Given the description of an element on the screen output the (x, y) to click on. 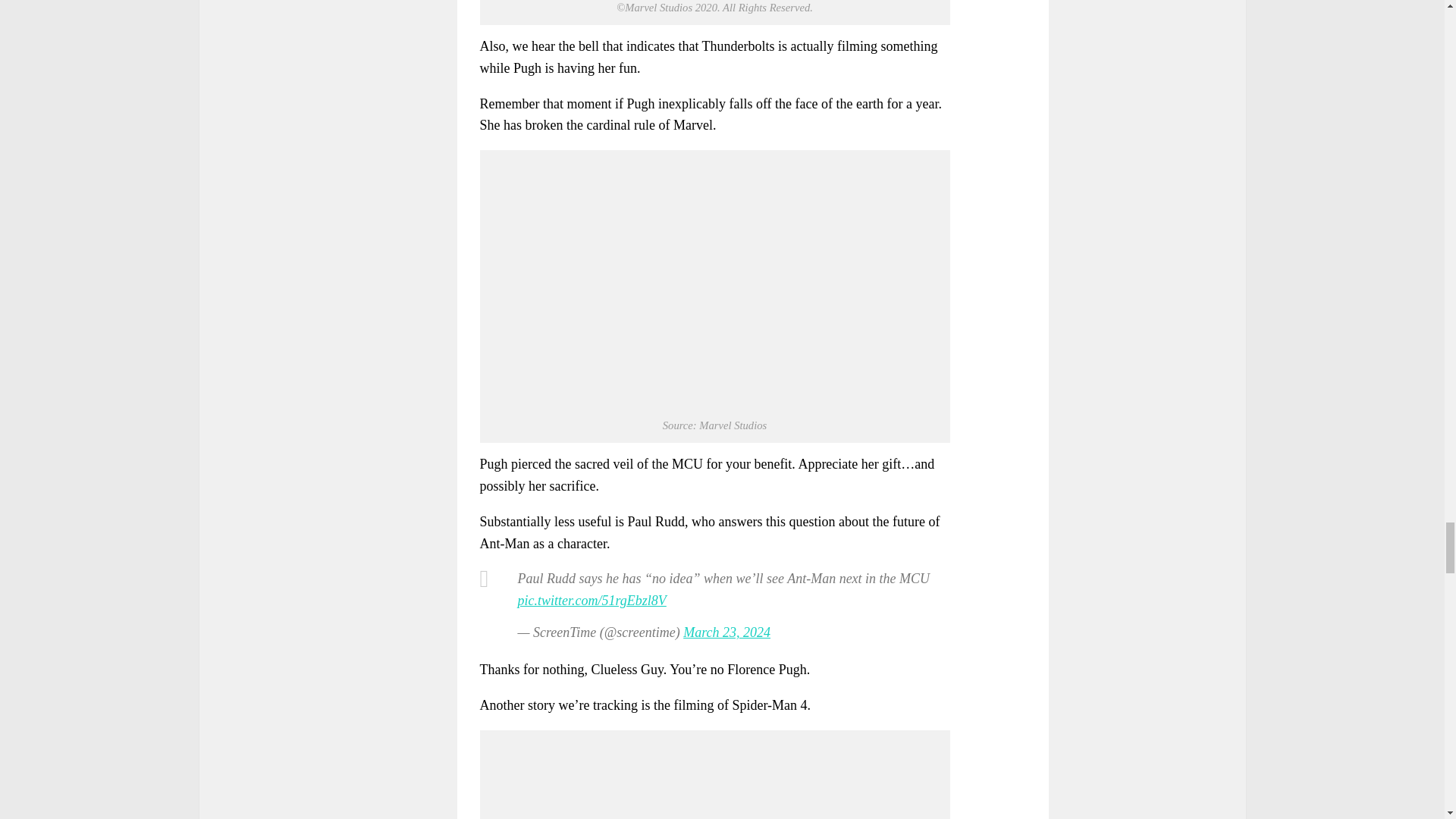
March 23, 2024 (726, 631)
